Given the description of an element on the screen output the (x, y) to click on. 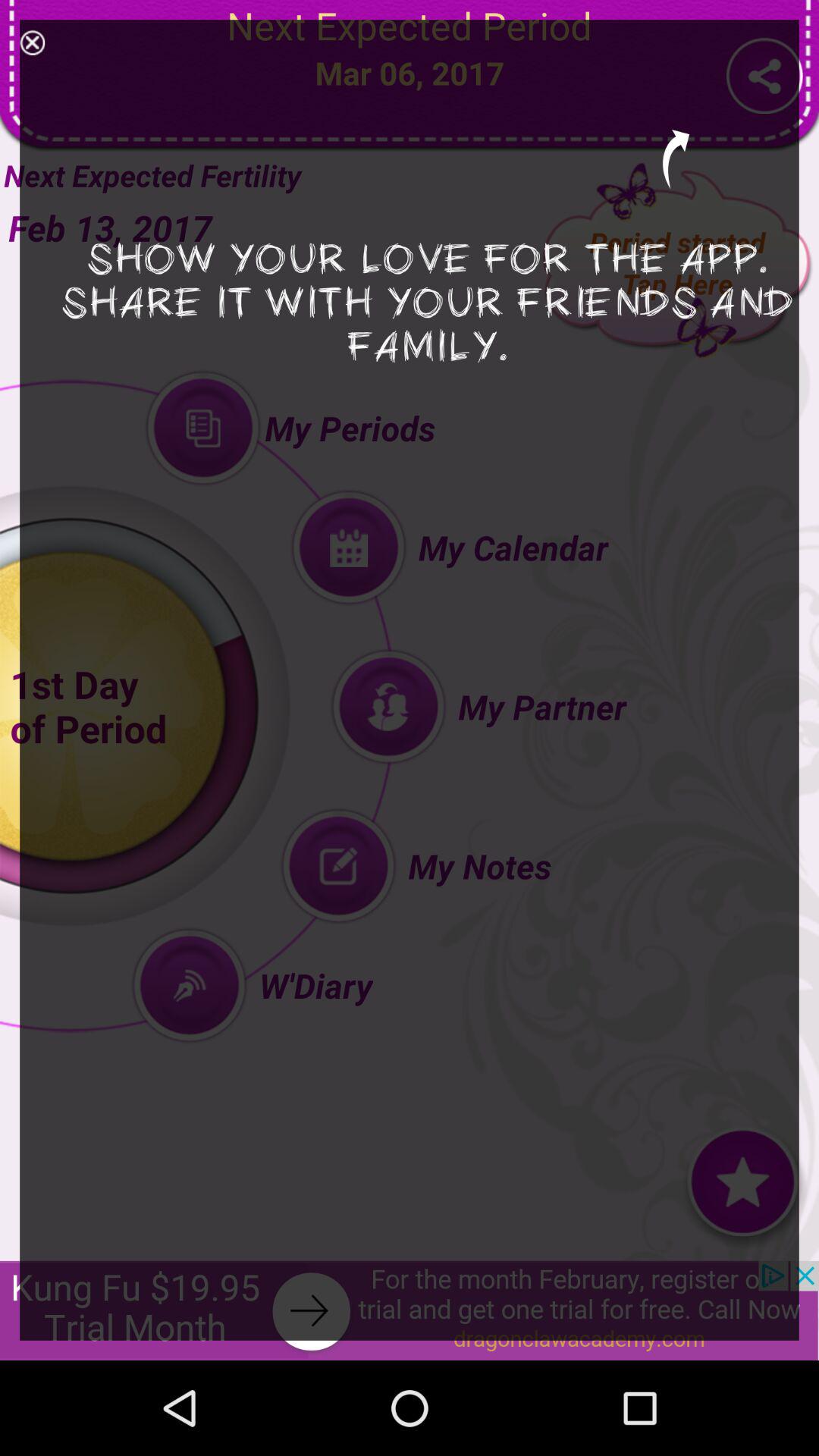
press the icon to the left of the h (31, 42)
